Given the description of an element on the screen output the (x, y) to click on. 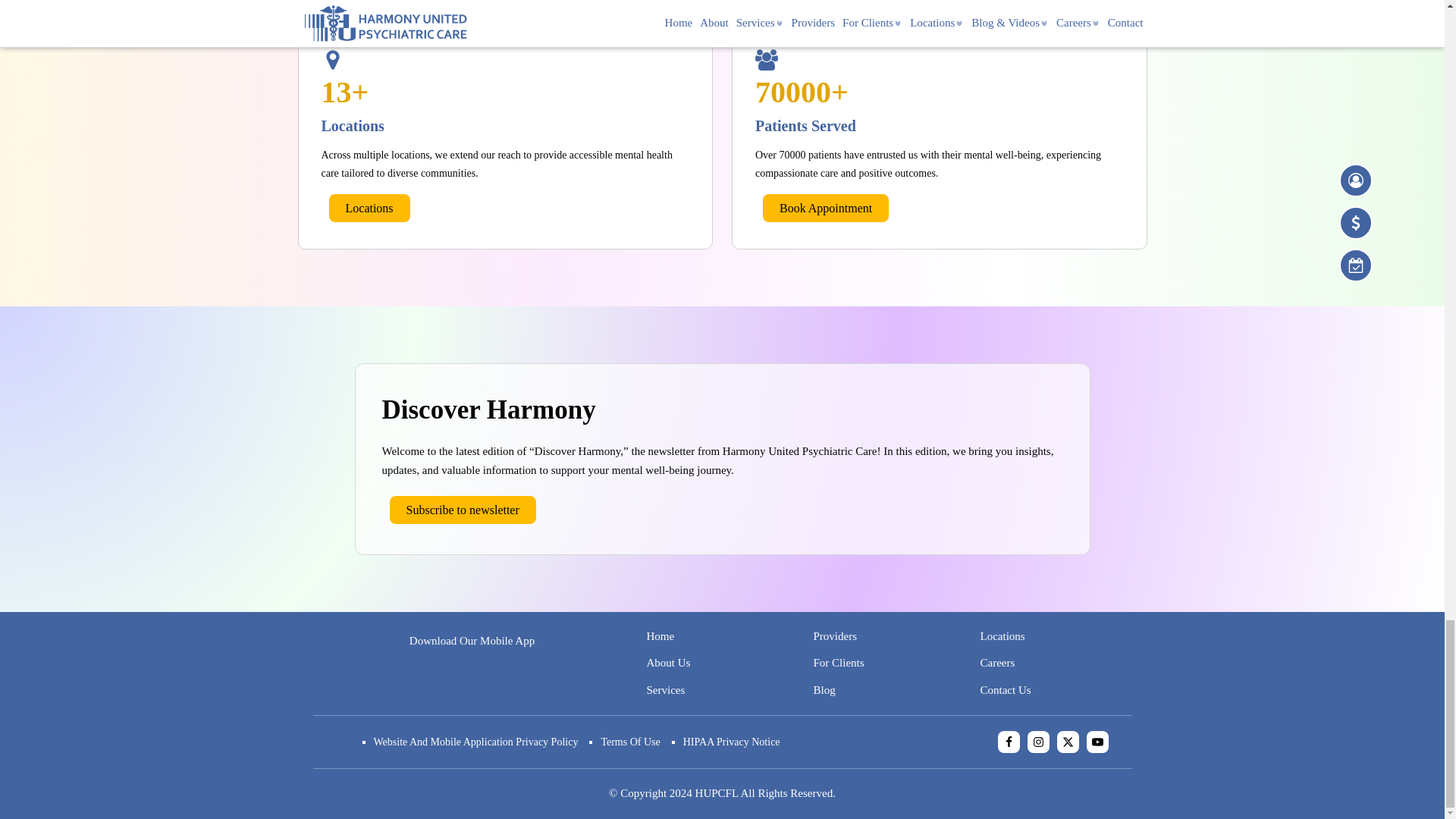
About Us (668, 663)
Providers (834, 637)
For Clients (837, 663)
Download from playstore (403, 678)
Download from appstore (539, 678)
Services (665, 690)
Home Page (660, 637)
